Given the description of an element on the screen output the (x, y) to click on. 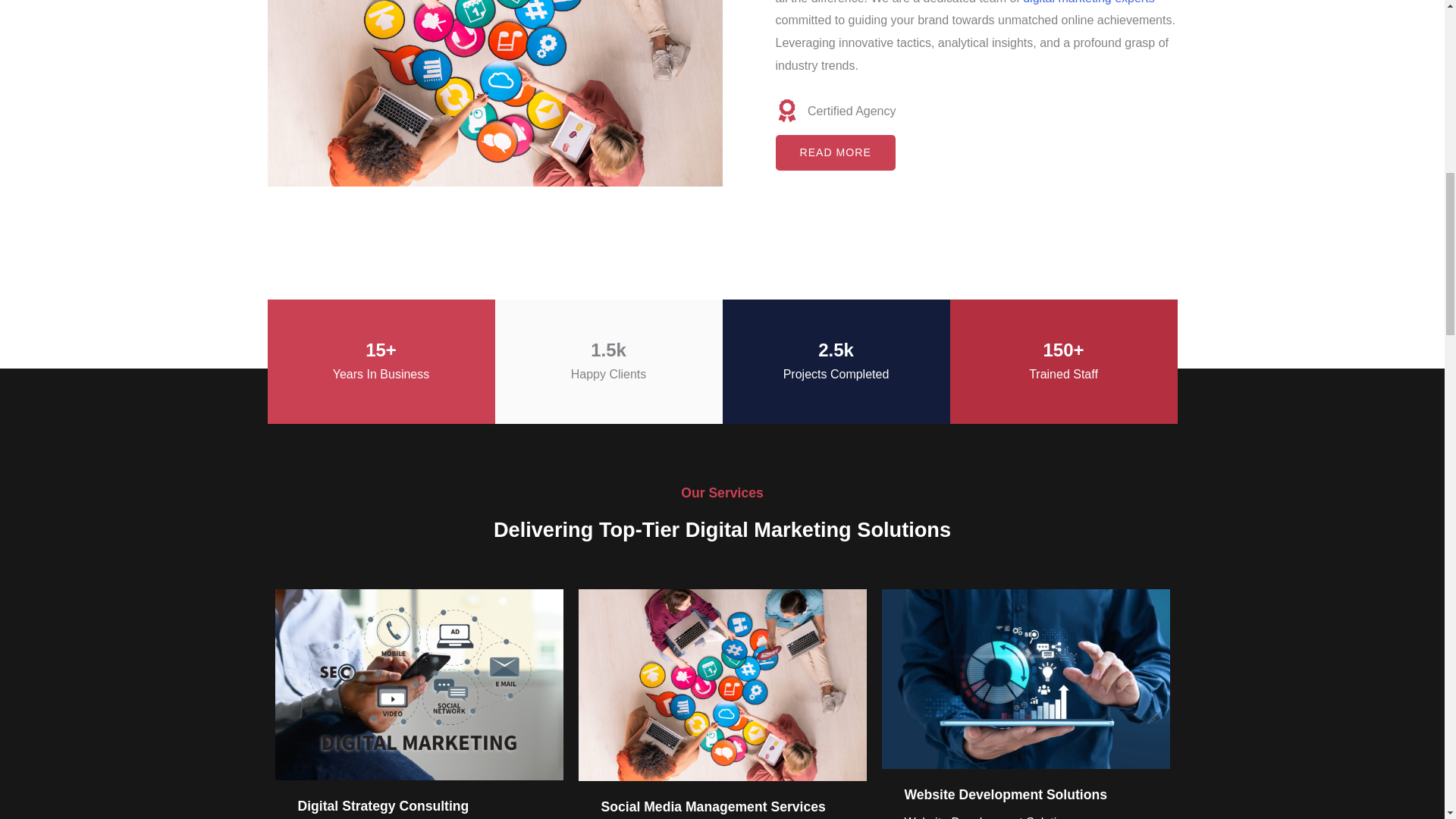
READ MORE (834, 152)
digital marketing experts (1088, 2)
